Given the description of an element on the screen output the (x, y) to click on. 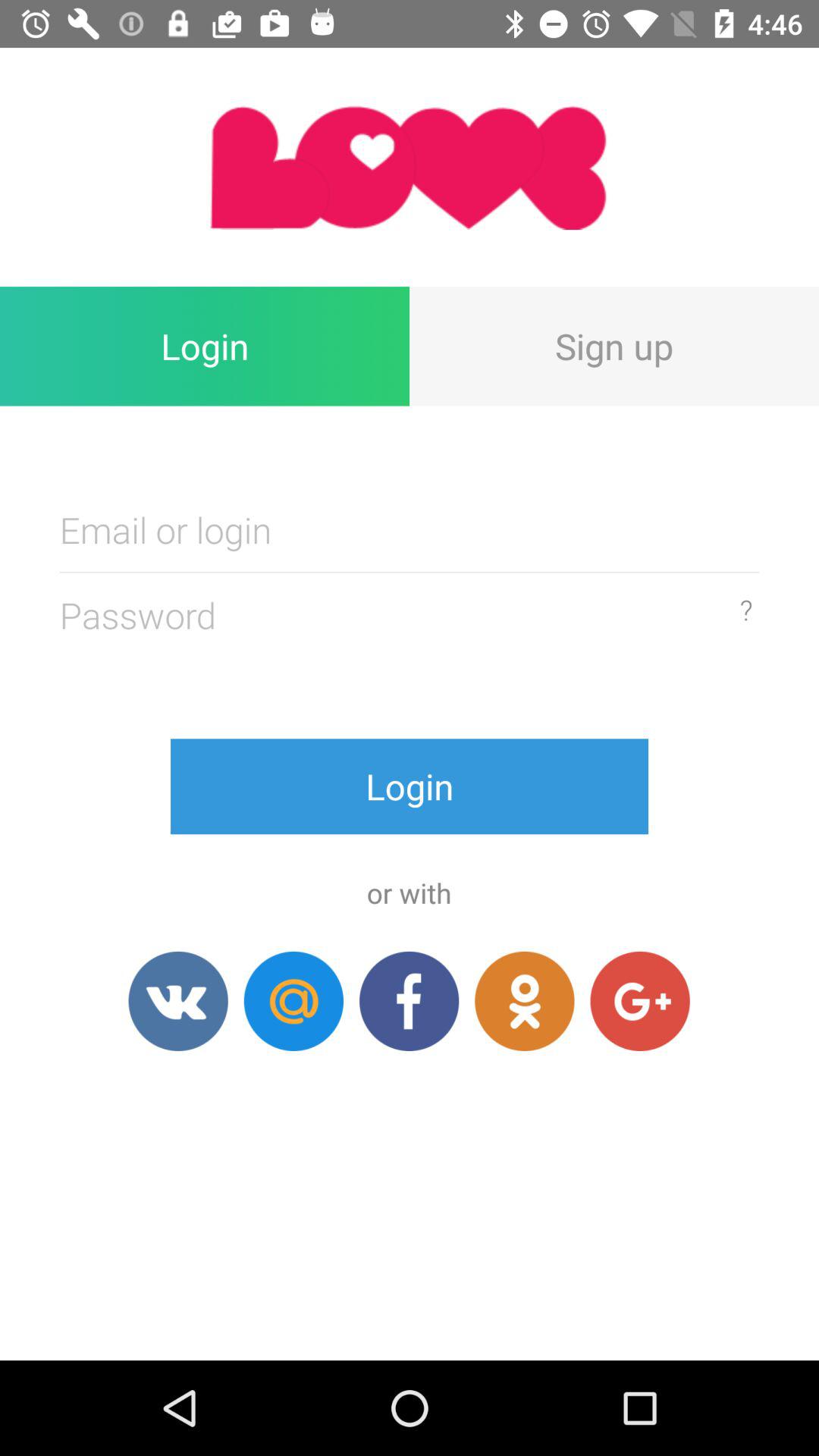
click radio button next to login icon (614, 346)
